Given the description of an element on the screen output the (x, y) to click on. 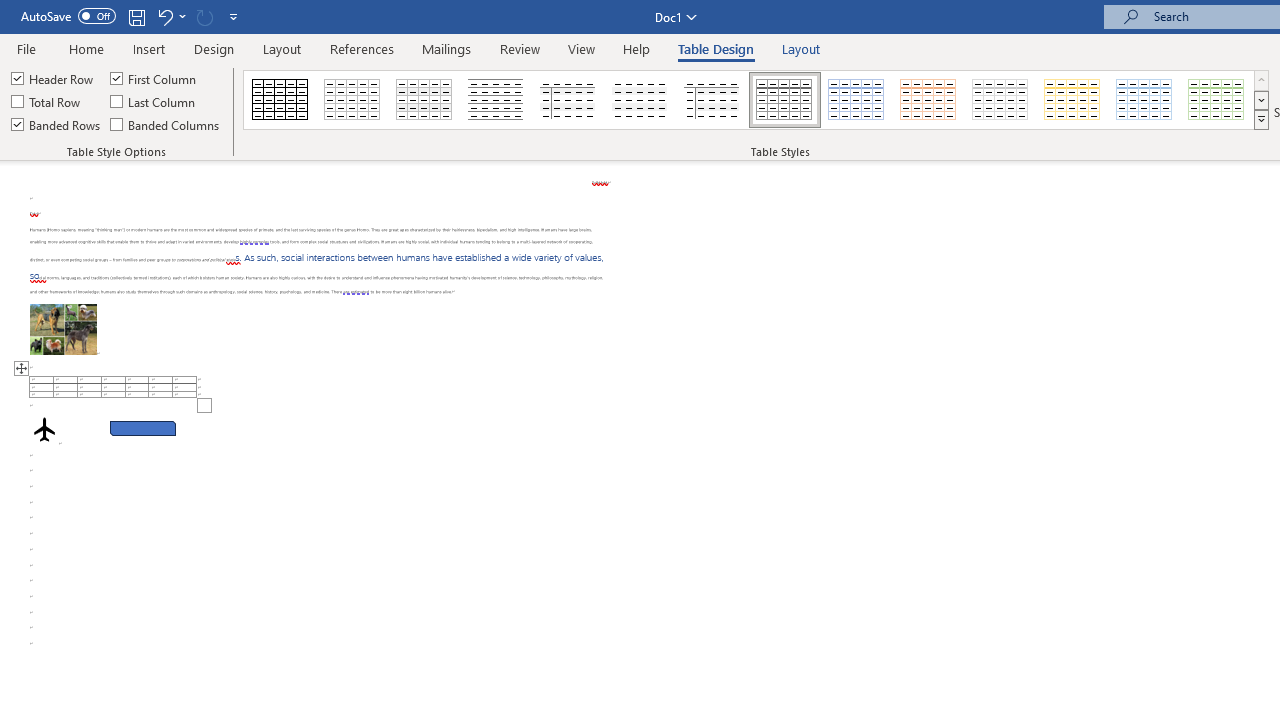
Layout (801, 48)
Plain Table 1 (424, 100)
Row Down (1261, 100)
References (362, 48)
Plain Table 4 (641, 100)
Table Styles (1261, 120)
Design (214, 48)
Table Grid (280, 100)
First Column (155, 78)
Mailings (447, 48)
View (582, 48)
Table Grid Light (353, 100)
Plain Table 3 (568, 100)
File Tab (26, 48)
Banded Rows (57, 124)
